Given the description of an element on the screen output the (x, y) to click on. 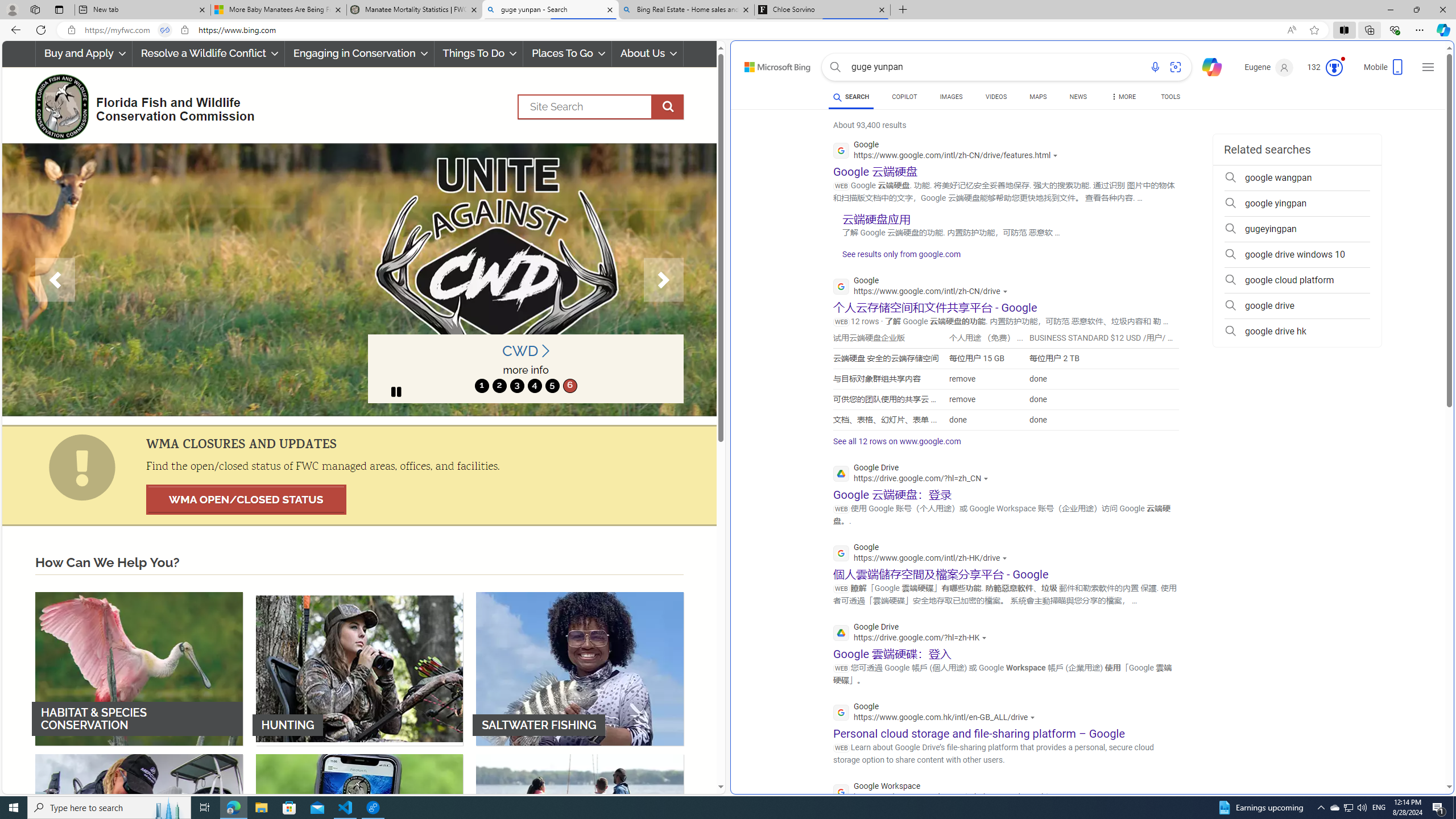
Search (600, 106)
See results only from google.com (896, 257)
Search using an image (1174, 66)
IMAGES (950, 98)
Engaging in Conservation (358, 53)
move to slide 6 (569, 385)
Back (13, 29)
NEWS (1078, 98)
slider pause button (396, 391)
Tab actions menu (58, 9)
Previous (54, 279)
5 (551, 385)
Things To Do (478, 53)
